Given the description of an element on the screen output the (x, y) to click on. 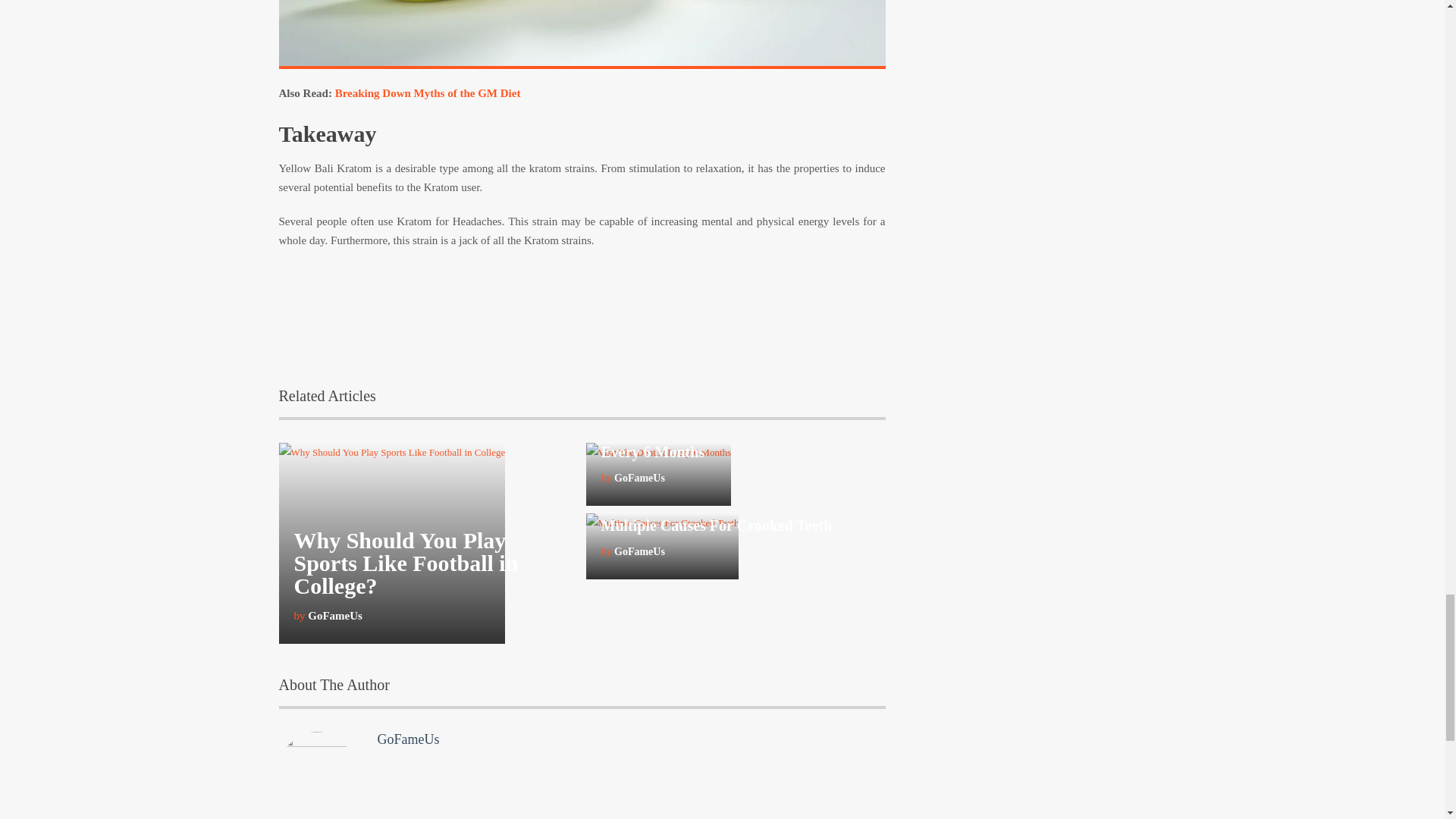
Why Should You Play Sports Like Football in College? (406, 562)
GoFameUs (408, 739)
Breaking Down Myths of the GM Diet (427, 92)
Multiple Causes For Crooked Teeth (715, 524)
Anxiety Relief (582, 34)
Why Should You Play Sports Like Football in College? (406, 562)
